Given the description of an element on the screen output the (x, y) to click on. 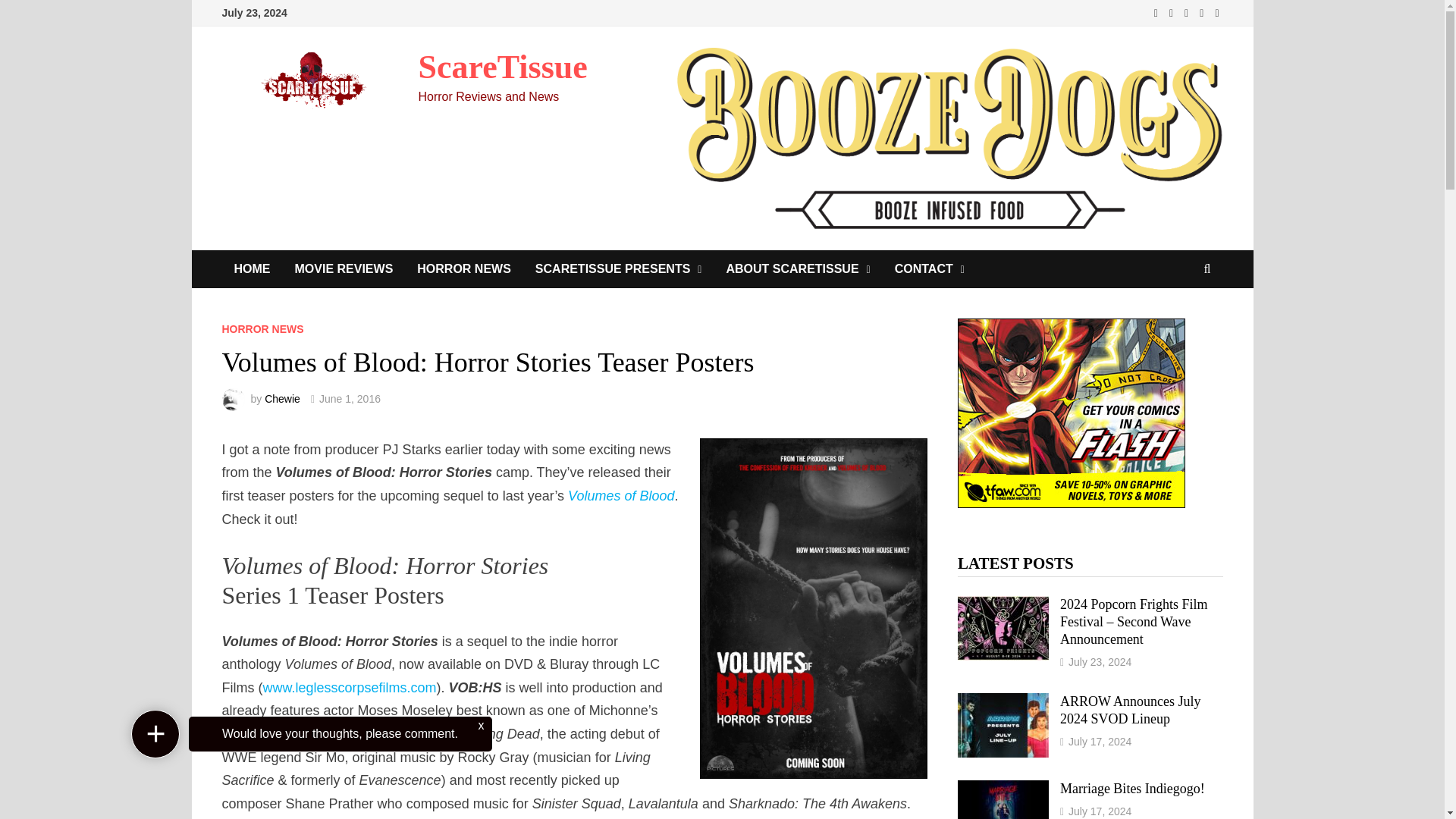
MOVIE REVIEWS (343, 269)
SCARETISSUE PRESENTS (618, 269)
HORROR NEWS (463, 269)
CONTACT (929, 269)
ABOUT SCARETISSUE (797, 269)
Facebook (1158, 11)
HORROR NEWS (261, 328)
Youtube (1173, 11)
ScareTissue (503, 66)
Instagram (1203, 11)
Twitter (1187, 11)
RSS (1217, 11)
Chewie (281, 398)
HOME (251, 269)
